Given the description of an element on the screen output the (x, y) to click on. 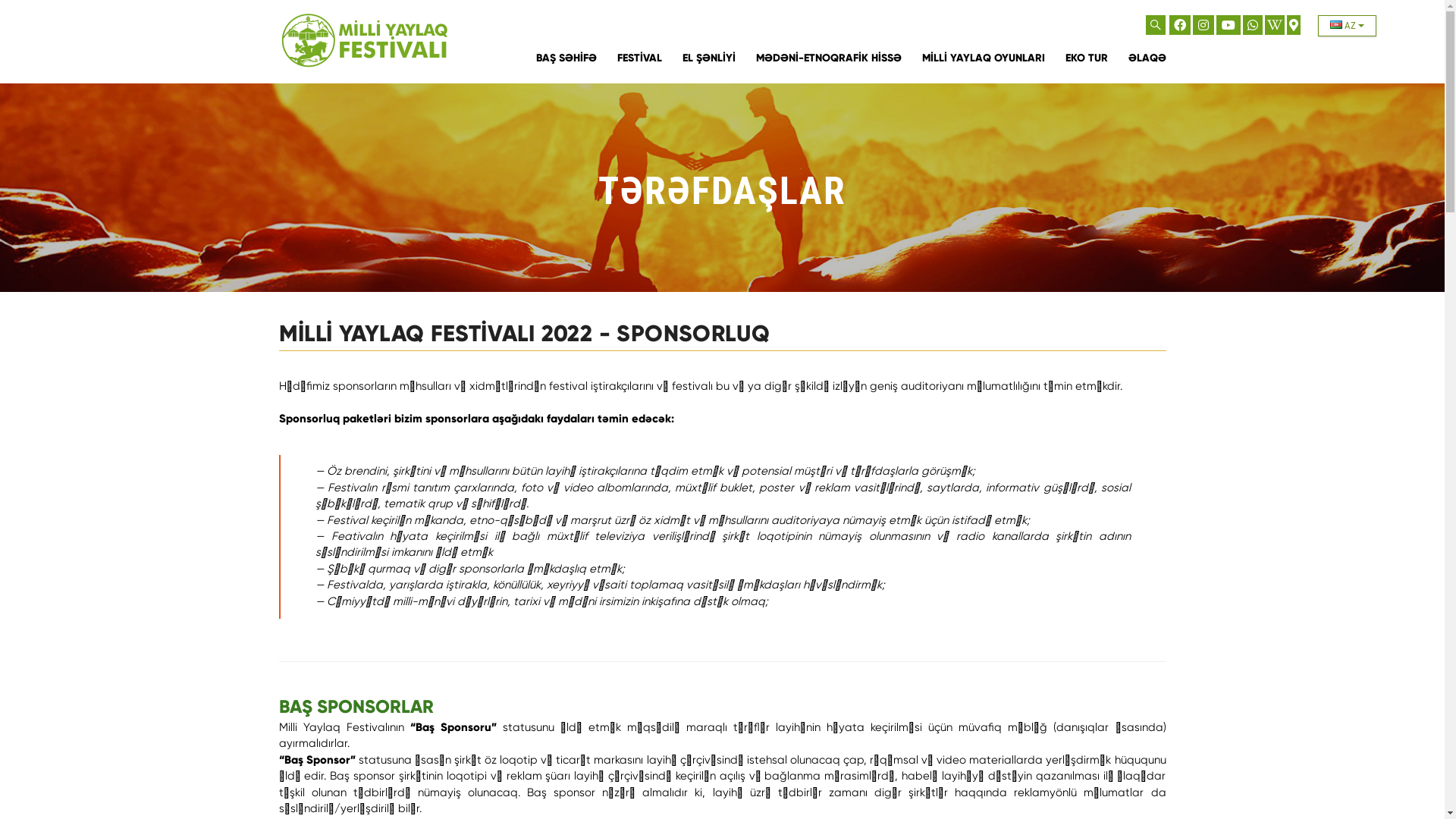
Search Element type: hover (1155, 25)
AZ Element type: text (1346, 25)
EKO TUR Element type: text (1085, 57)
